Given the description of an element on the screen output the (x, y) to click on. 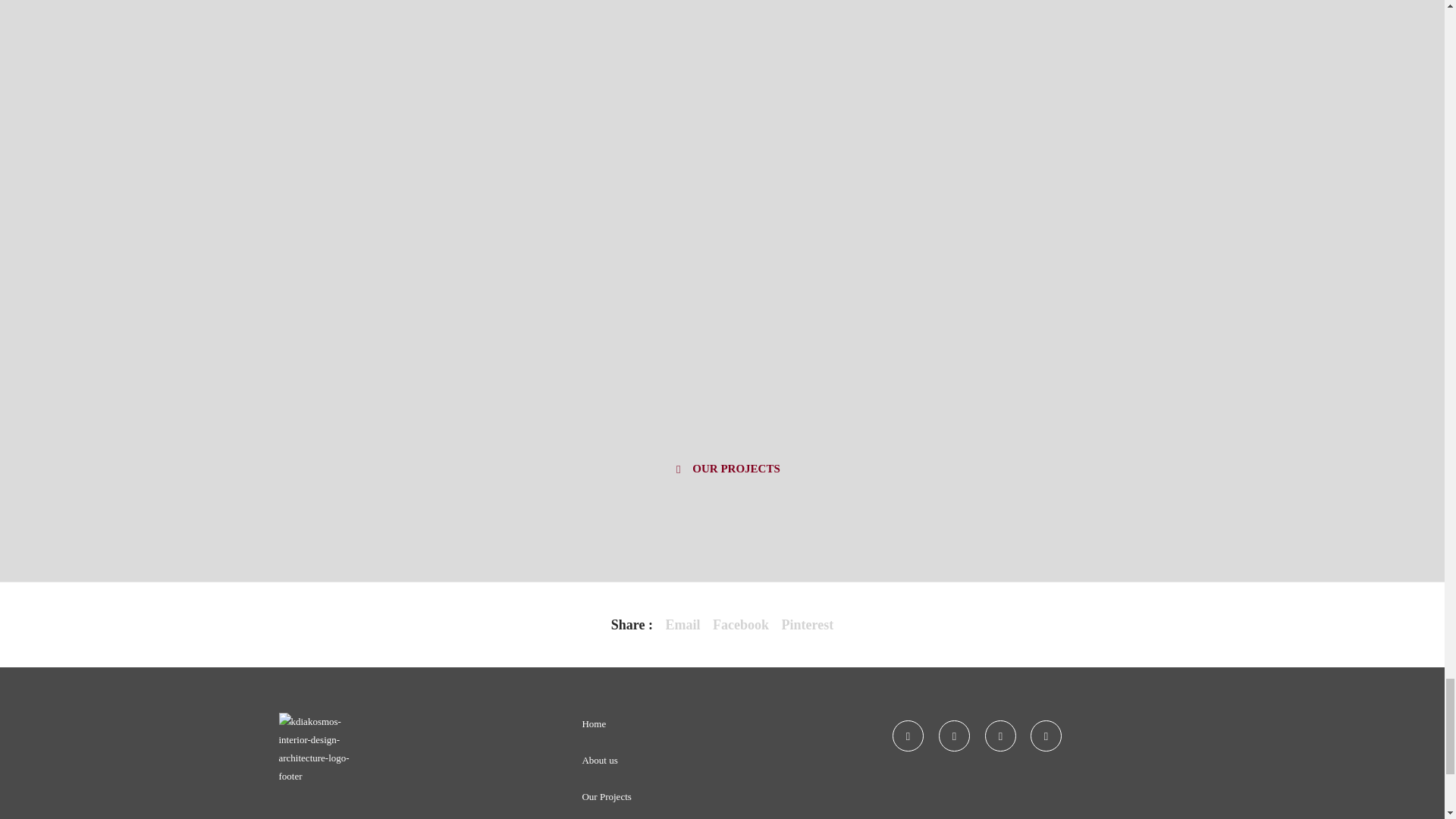
Home (592, 723)
Pinterest (807, 624)
Email (682, 624)
Law firm in Athens (682, 624)
Facebook (740, 624)
Law firm in Athens (740, 624)
Our Projects (721, 473)
About us (598, 759)
Our Projects (605, 796)
OUR PROJECTS (721, 473)
